Given the description of an element on the screen output the (x, y) to click on. 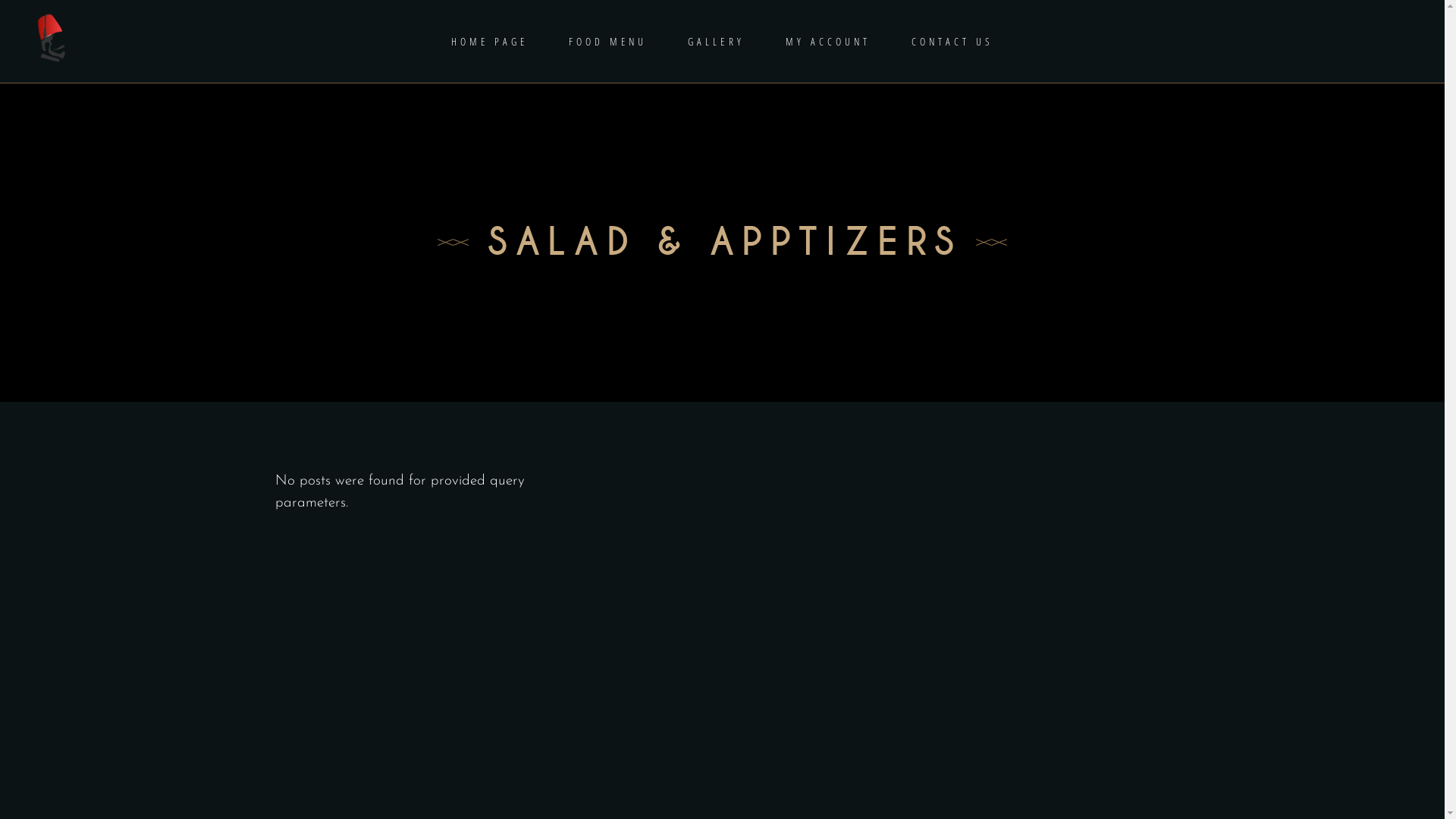
FOOD MENU Element type: text (607, 41)
HOME PAGE Element type: text (489, 41)
GALLERY Element type: text (715, 41)
MY ACCOUNT Element type: text (828, 41)
CONTACT US Element type: text (952, 41)
